Given the description of an element on the screen output the (x, y) to click on. 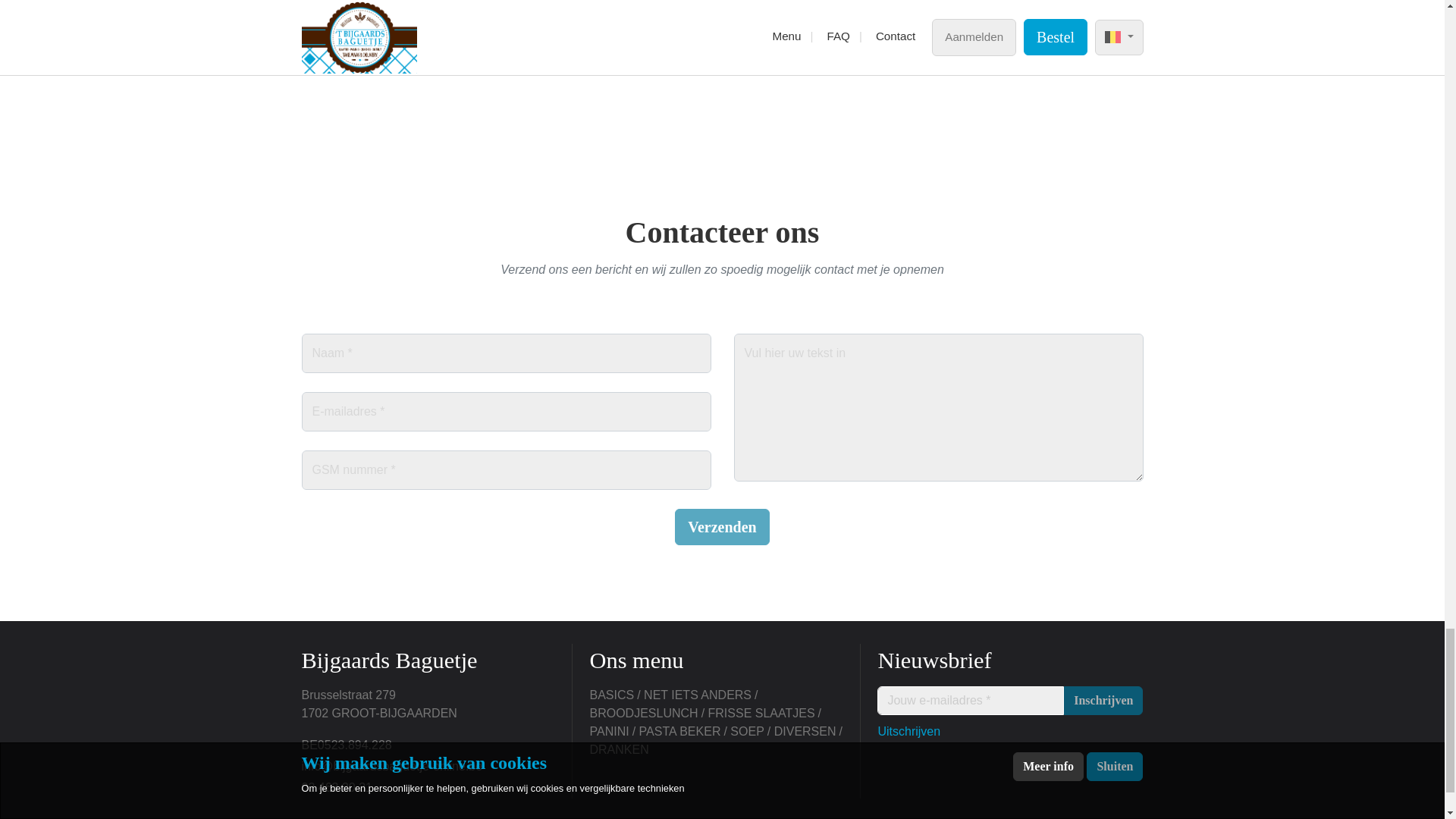
Inschrijven (1103, 699)
Verzenden (721, 526)
Uitschrijven (908, 730)
